Given the description of an element on the screen output the (x, y) to click on. 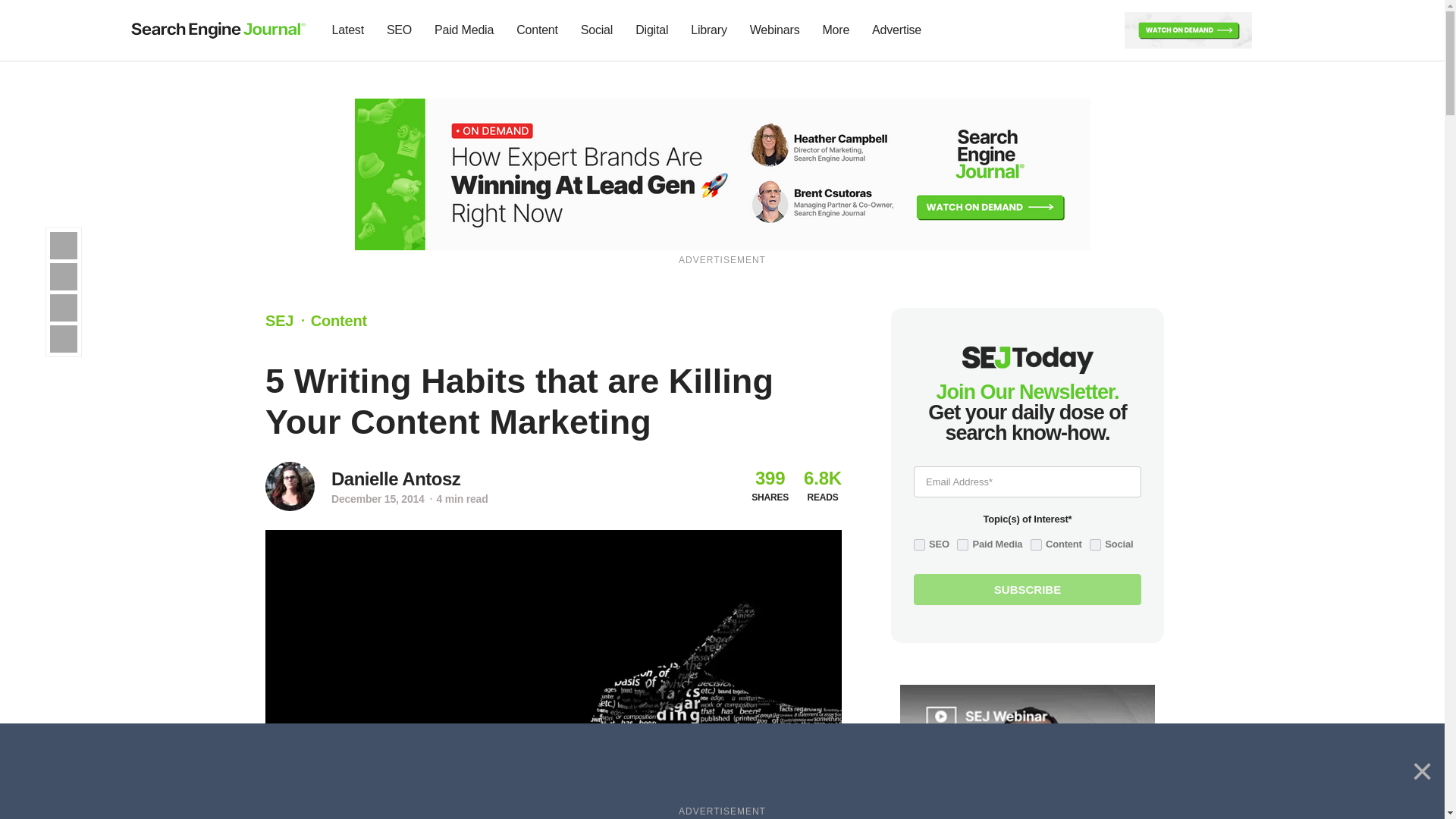
Latest (347, 30)
Subscribe to our Newsletter (1277, 30)
Register Now (1187, 28)
Register Now (722, 172)
Paid Media (464, 30)
Go to Author Page (395, 478)
Go to Author Page (289, 486)
